Given the description of an element on the screen output the (x, y) to click on. 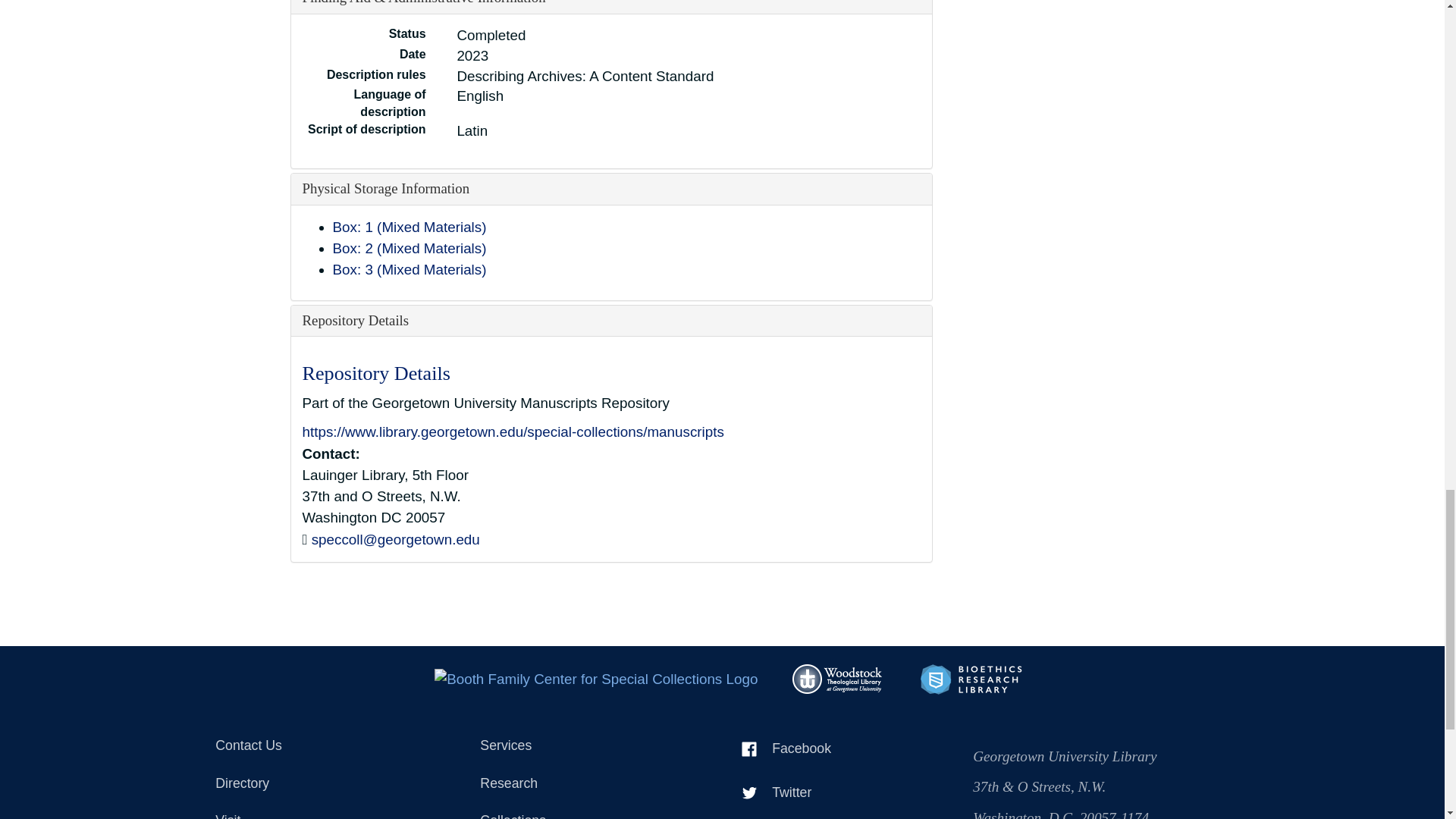
Repository Details (355, 320)
Send email (395, 539)
Woodstock Theological Library at Georgetown University (838, 678)
Physical Storage Information (384, 188)
Bioethics Research Library at Georgetown University (971, 678)
Booth Family Center for Special Collections (595, 678)
